Given the description of an element on the screen output the (x, y) to click on. 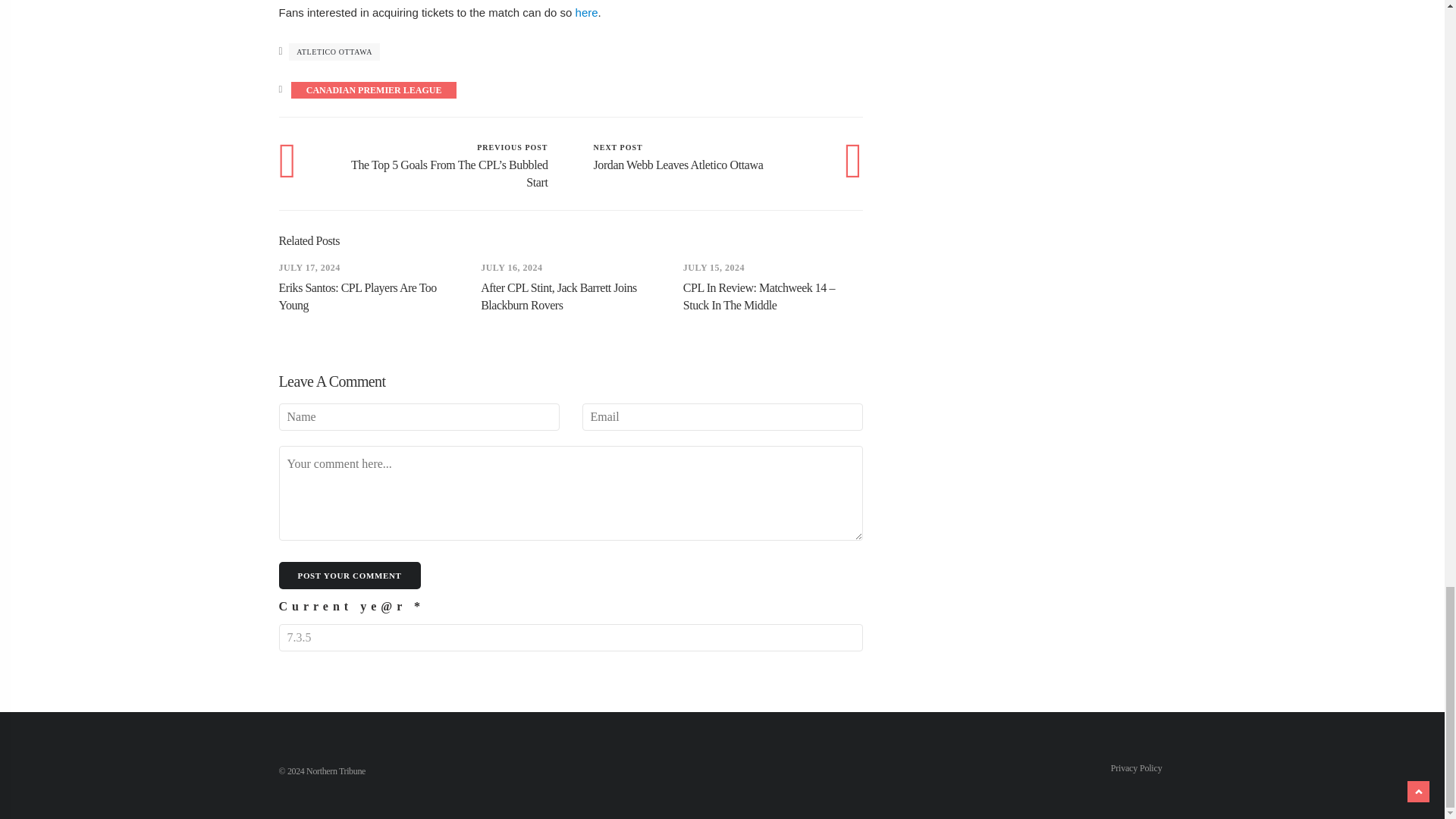
After CPL Stint, Jack Barrett Joins Blackburn Rovers (694, 156)
Eriks Santos: CPL Players Are Too Young (558, 296)
CANADIAN PREMIER LEAGUE (357, 296)
ATLETICO OTTAWA (373, 89)
here (334, 51)
7.3.5 (586, 11)
